Given the description of an element on the screen output the (x, y) to click on. 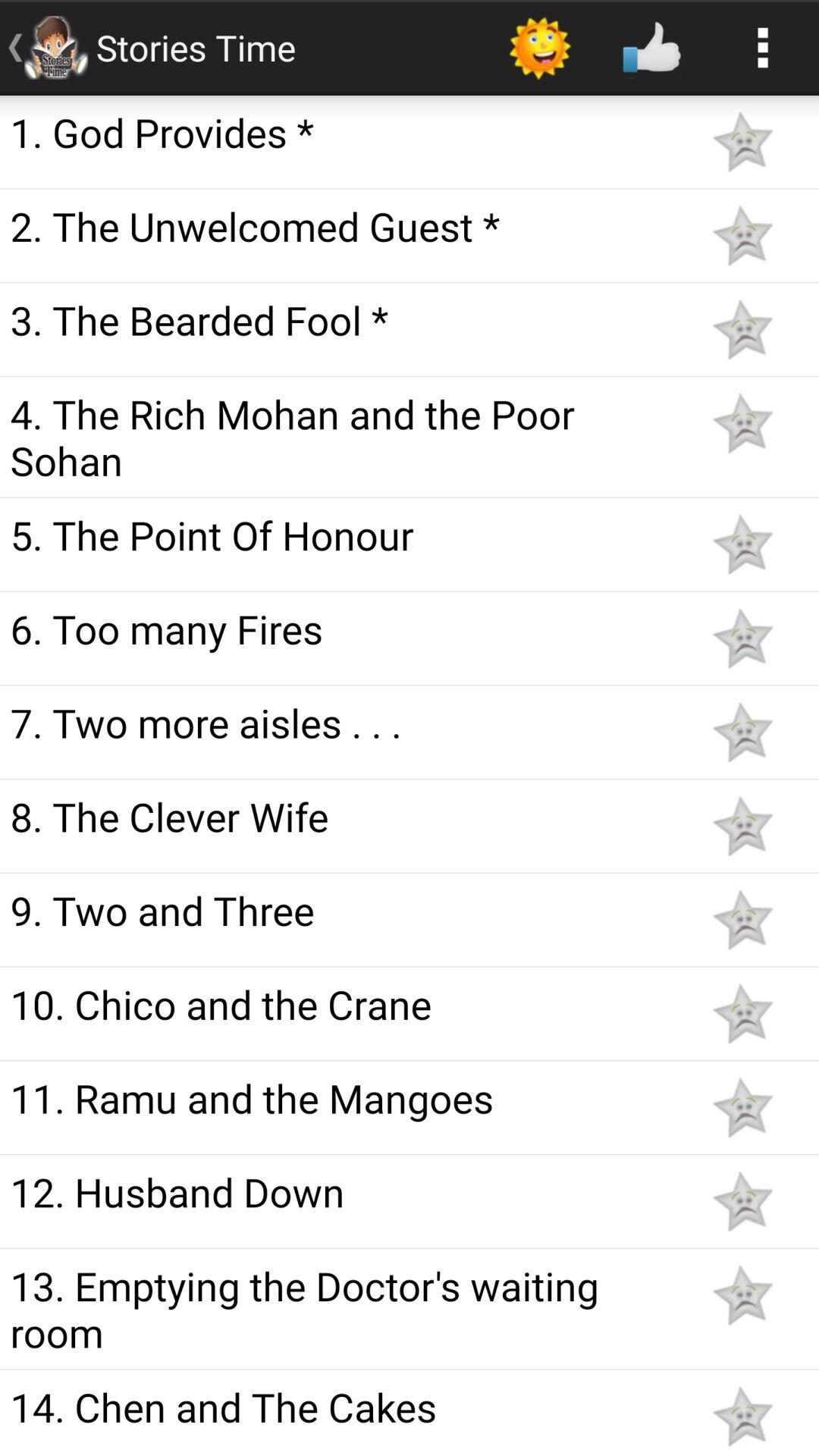
toggles favorite option (742, 141)
